Given the description of an element on the screen output the (x, y) to click on. 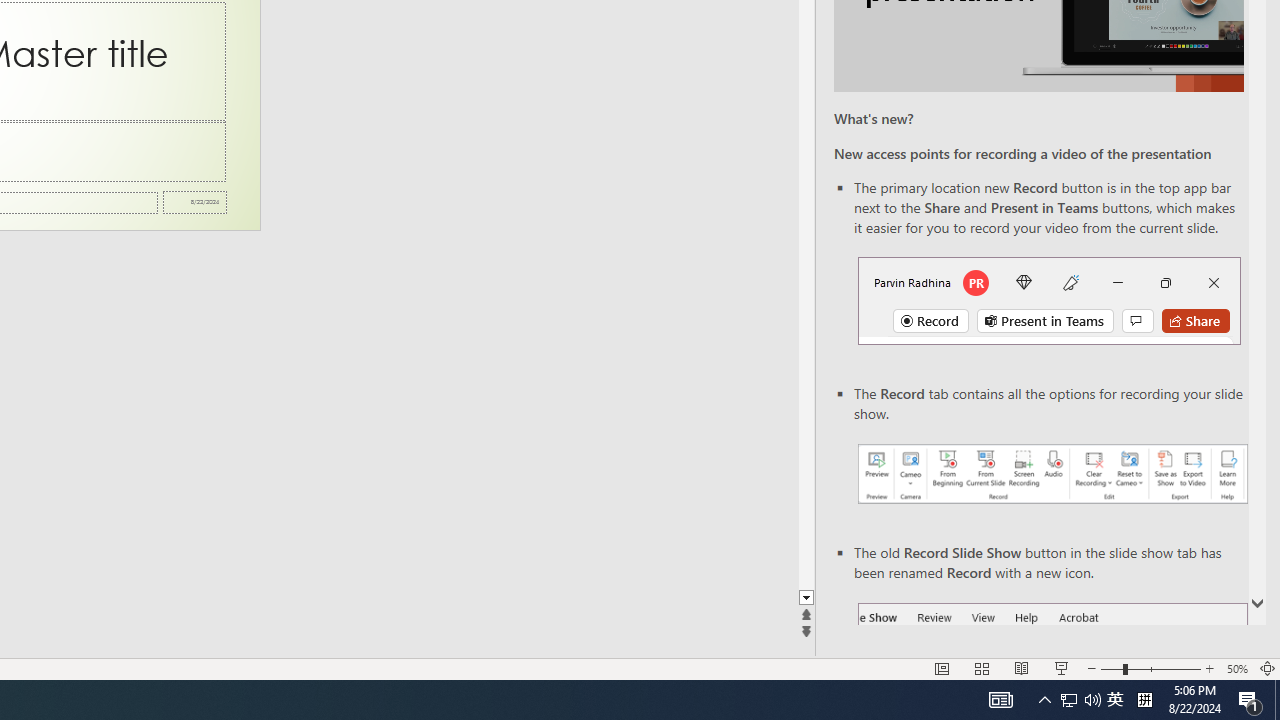
Zoom 50% (1236, 668)
Record your presentations screenshot one (1052, 473)
Record button in top bar (1049, 300)
Date (194, 201)
